Given the description of an element on the screen output the (x, y) to click on. 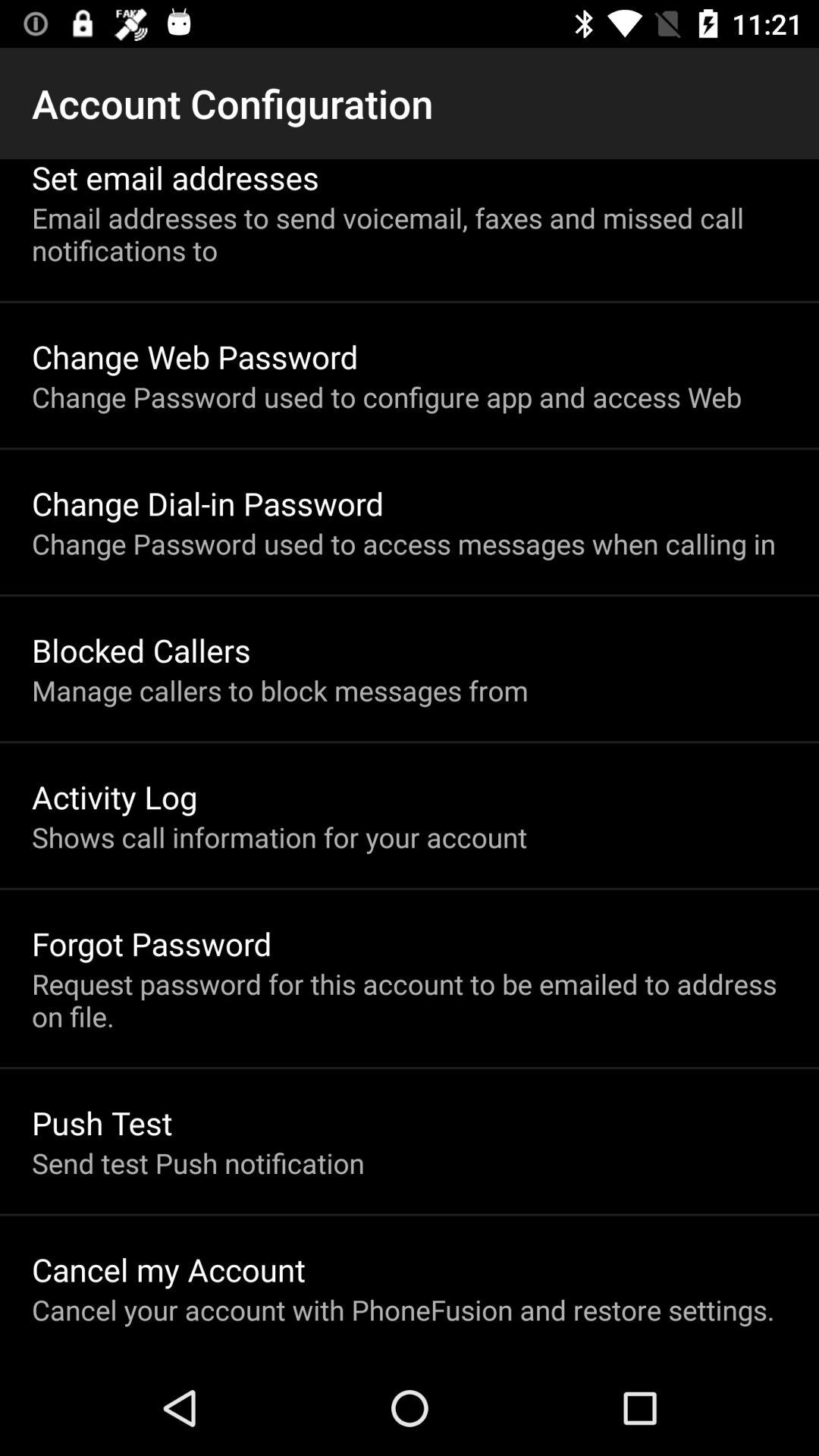
select blocked callers app (140, 649)
